Given the description of an element on the screen output the (x, y) to click on. 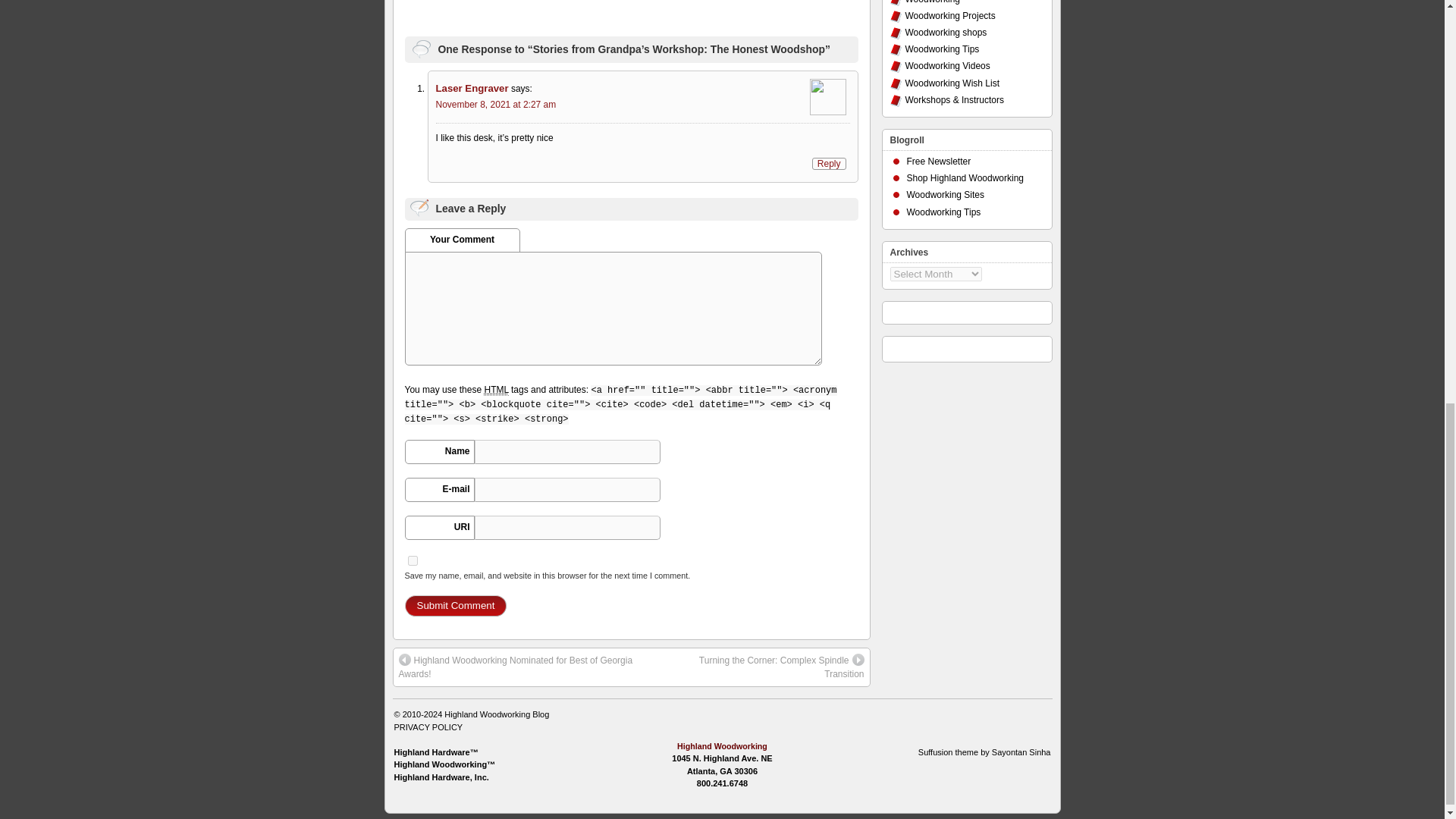
  Turning the Corner: Complex Spindle Transition (762, 666)
yes (412, 560)
November 8, 2021 at 2:27 am (495, 104)
Submit Comment (455, 605)
Reply (828, 163)
Laser Engraver (471, 88)
Submit Comment (455, 605)
HyperText Markup Language (495, 389)
  Highland Woodworking Nominated for Best of Georgia Awards! (529, 666)
